Given the description of an element on the screen output the (x, y) to click on. 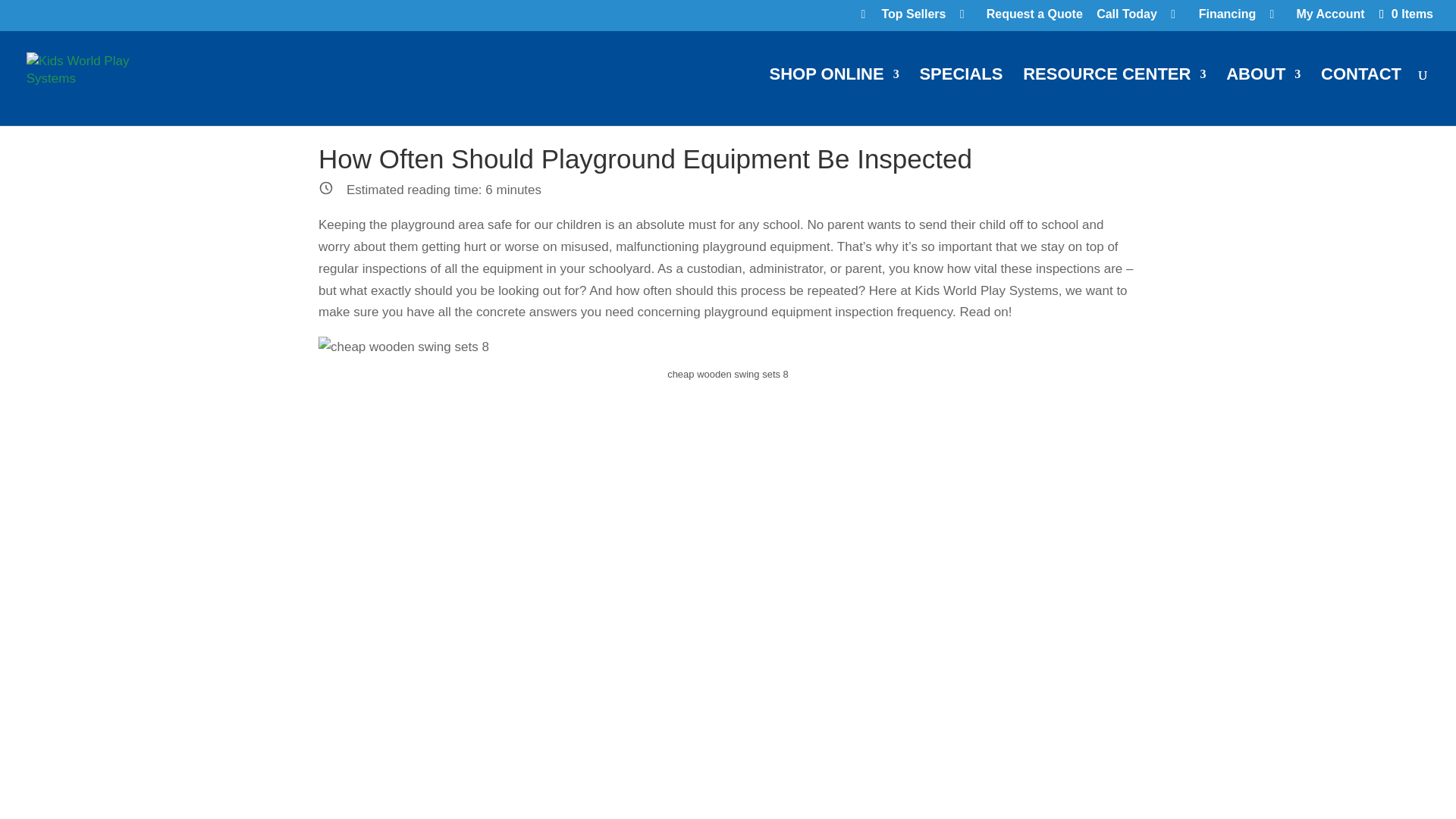
My Account (1317, 18)
SPECIALS (960, 97)
RESOURCE CENTER (1114, 97)
0 Items (1403, 13)
Top Sellers (902, 18)
SHOP ONLINE (833, 97)
Request a Quote (1021, 18)
ABOUT (1262, 97)
Call Today (1126, 18)
Financing (1212, 18)
